Given the description of an element on the screen output the (x, y) to click on. 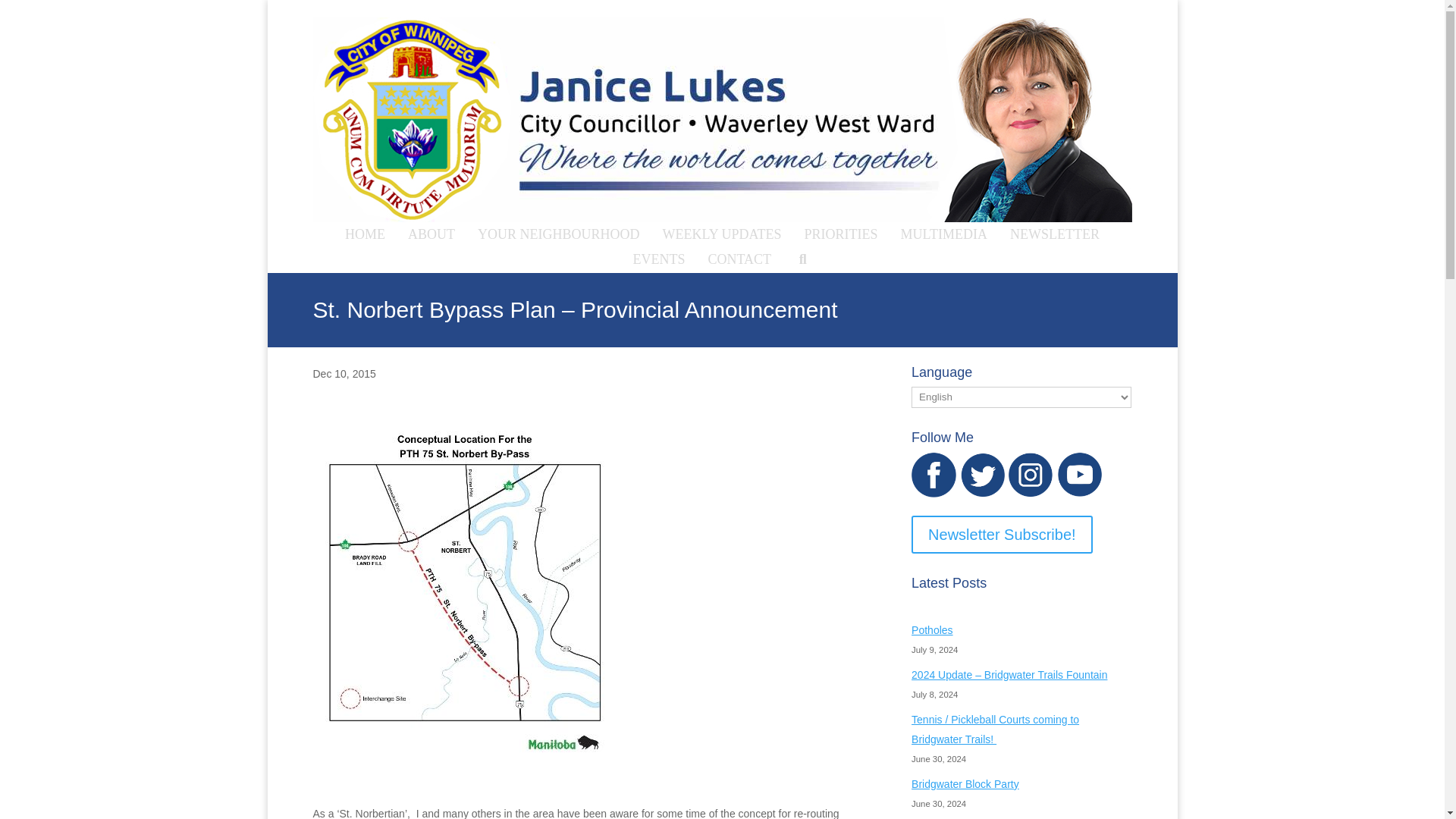
MULTIMEDIA (943, 234)
EVENTS (659, 259)
ABOUT (430, 234)
YOUR NEIGHBOURHOOD (557, 234)
WEEKLY UPDATES (721, 234)
CONTACT (740, 259)
HOME (364, 234)
NEWSLETTER (1054, 234)
PRIORITIES (841, 234)
